Given the description of an element on the screen output the (x, y) to click on. 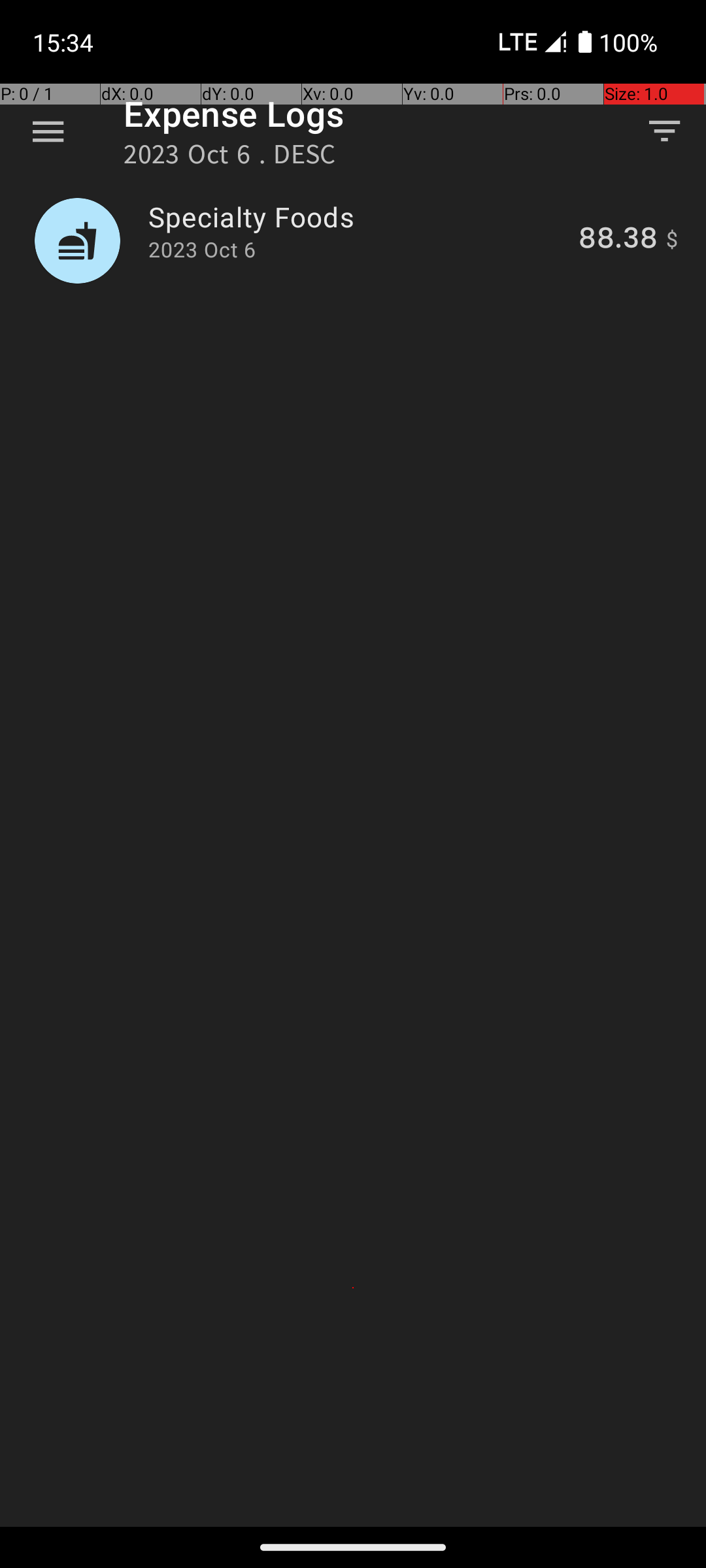
2023 Oct 6 . DESC Element type: android.widget.TextView (229, 157)
88.38 Element type: android.widget.TextView (617, 240)
